Given the description of an element on the screen output the (x, y) to click on. 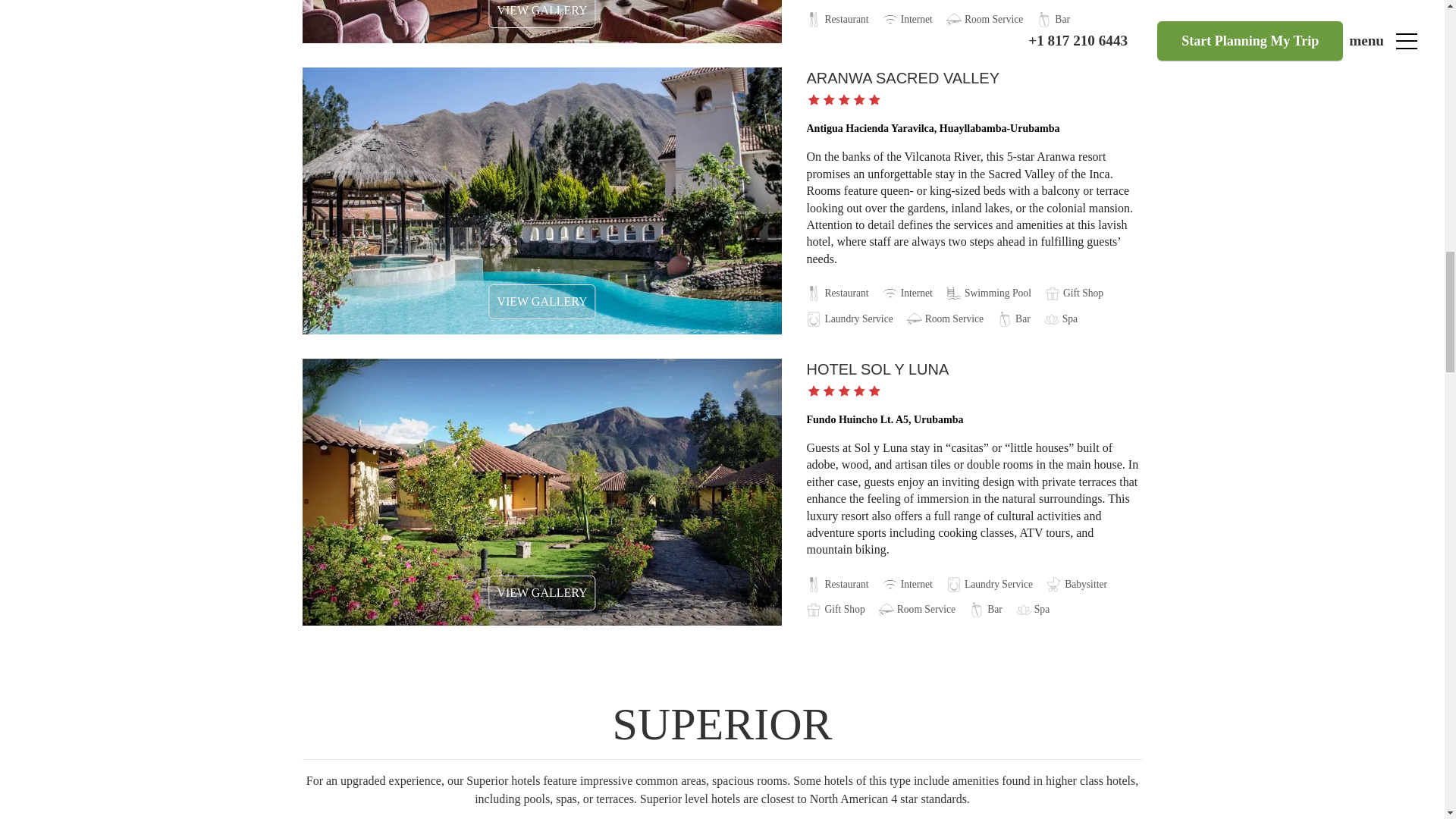
VIEW GALLERY (541, 301)
VIEW GALLERY (541, 592)
VIEW GALLERY (541, 13)
